Given the description of an element on the screen output the (x, y) to click on. 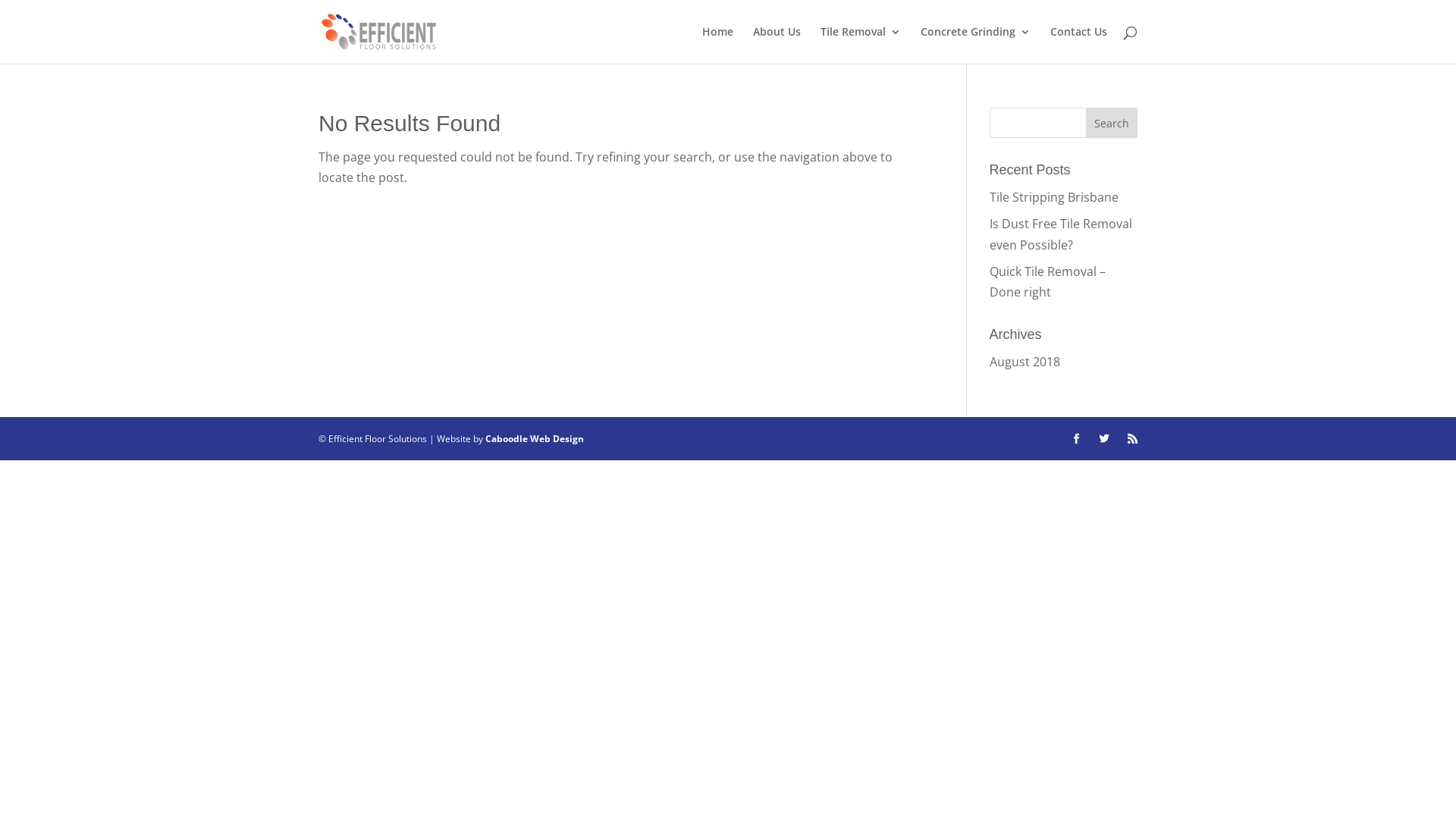
August 2018 Element type: text (1024, 361)
Caboodle Web Design Element type: text (534, 438)
Tile Removal Element type: text (860, 44)
Tile Stripping Brisbane Element type: text (1053, 196)
Concrete Grinding Element type: text (975, 44)
Search Element type: text (1111, 122)
Home Element type: text (717, 44)
Contact Us Element type: text (1078, 44)
Is Dust Free Tile Removal even Possible? Element type: text (1060, 233)
About Us Element type: text (776, 44)
